Given the description of an element on the screen output the (x, y) to click on. 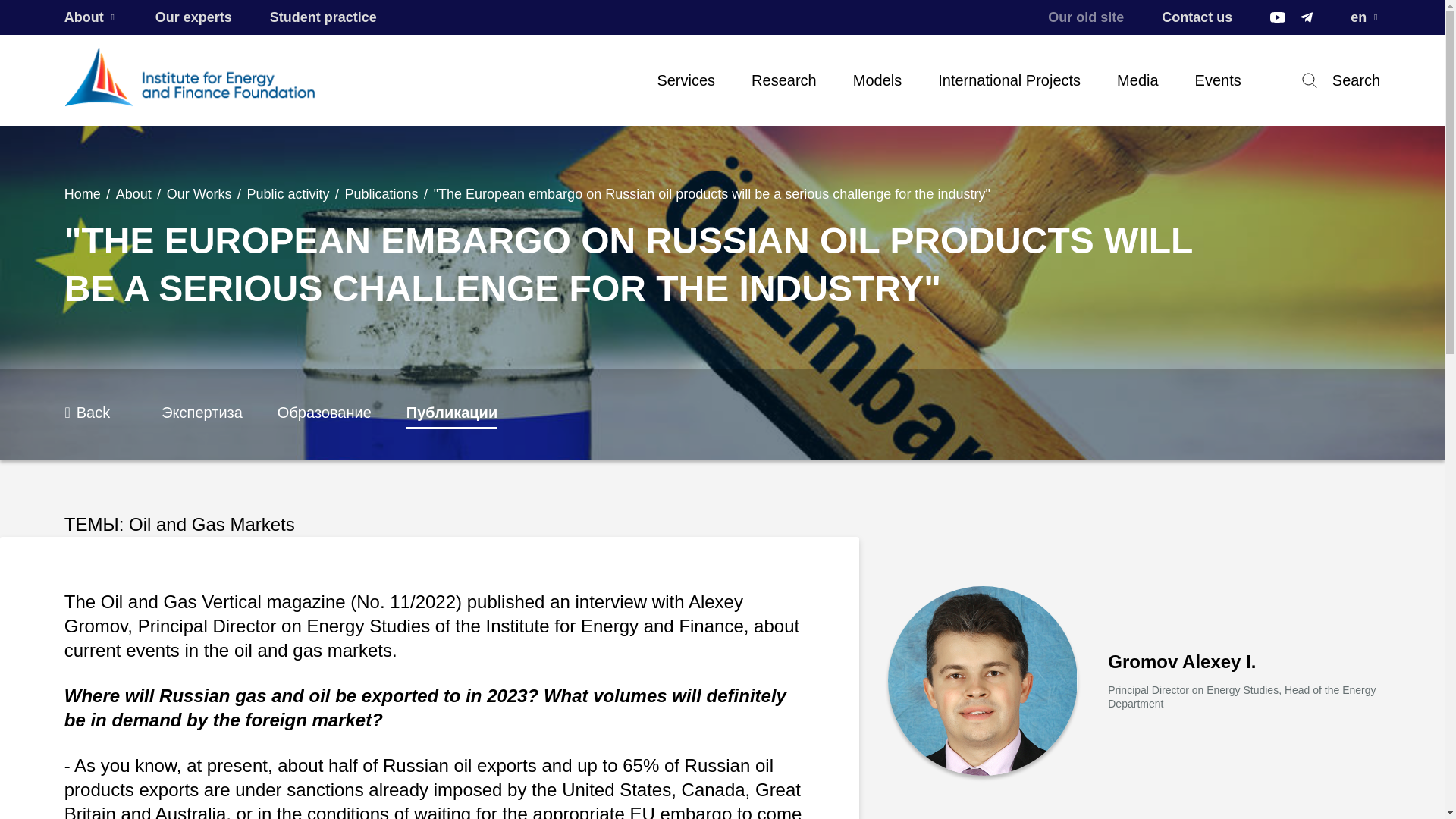
Our experts (193, 17)
Our old site (1086, 17)
Contact us (1196, 17)
Student practice (323, 17)
Services (685, 80)
Research (784, 80)
